Given the description of an element on the screen output the (x, y) to click on. 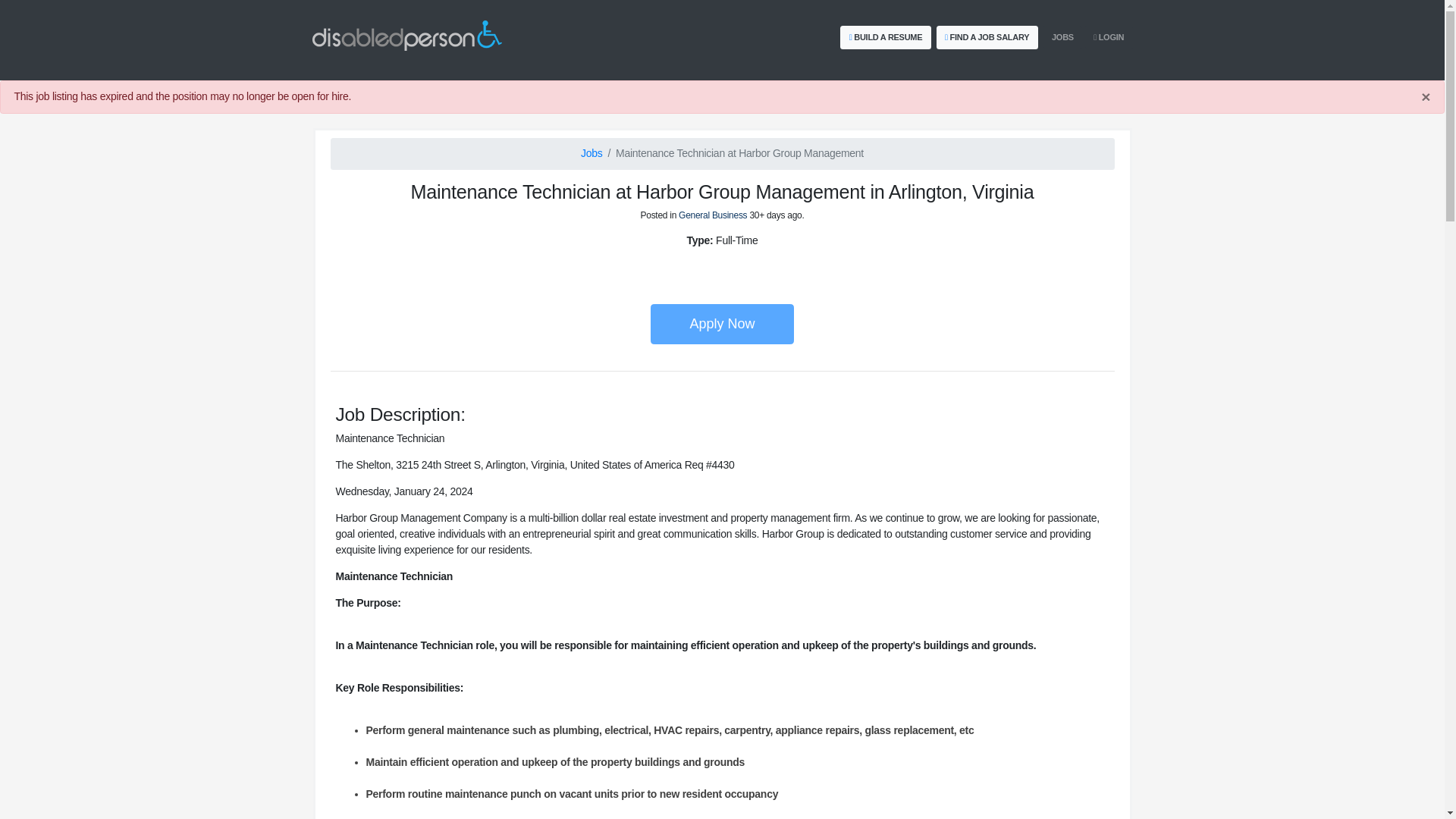
Share to Linkedin (729, 265)
FIND A JOB SALARY (986, 36)
Share to Facebook (713, 265)
General Business (712, 214)
LOGIN (1108, 36)
Share to Email (746, 265)
Jobs (591, 153)
Share to Twitter (697, 265)
Apply Now (721, 323)
JOBS (1062, 36)
